Given the description of an element on the screen output the (x, y) to click on. 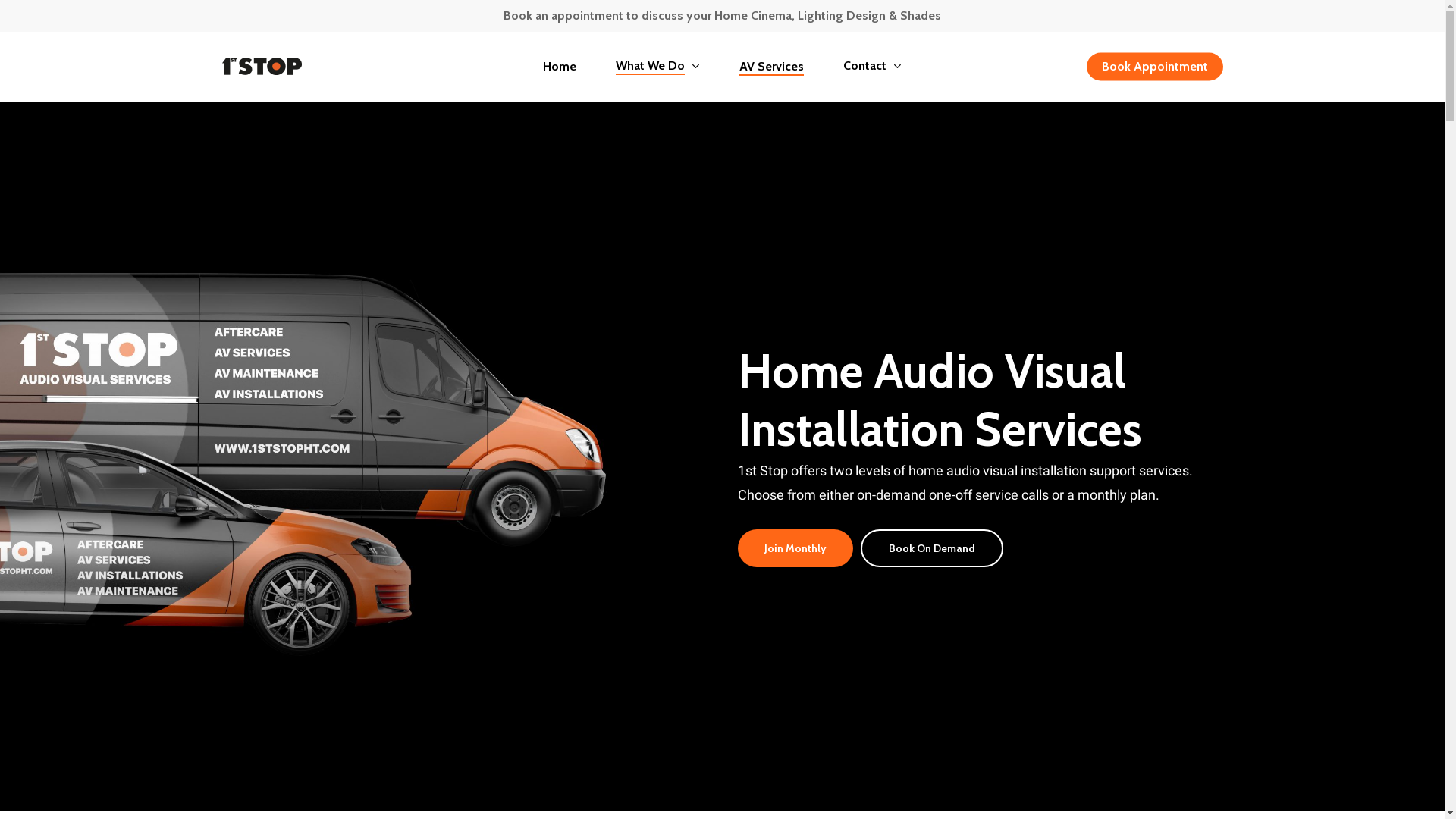
Book Appointment Element type: text (1153, 66)
Join Monthly Element type: text (794, 548)
Home Element type: text (559, 66)
Book On Demand Element type: text (930, 548)
Contact Element type: text (872, 65)
AV Services Element type: text (771, 66)
What We Do Element type: text (657, 65)
